Given the description of an element on the screen output the (x, y) to click on. 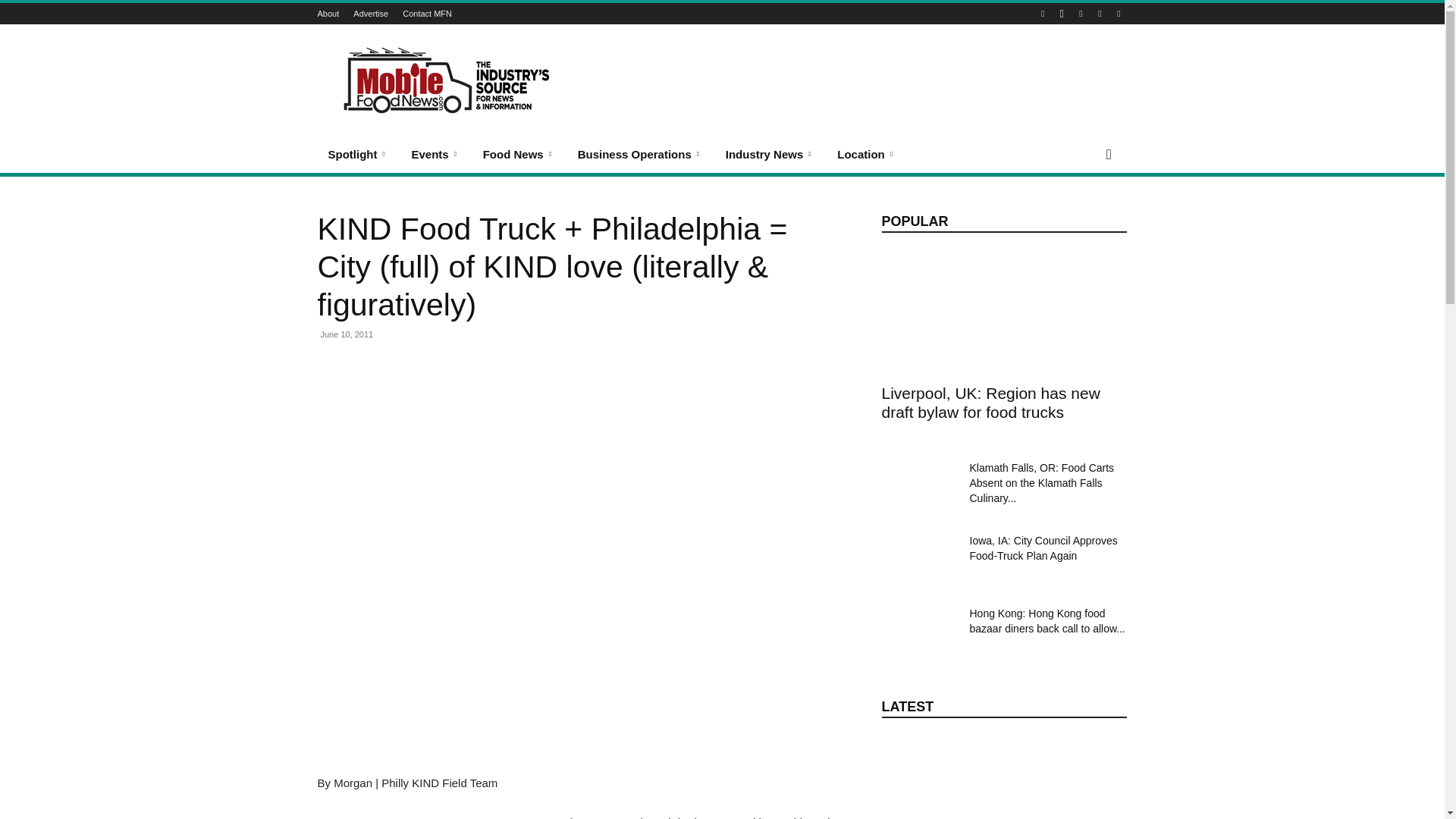
Advertise (370, 13)
About (328, 13)
Contact MFN (427, 13)
